Given the description of an element on the screen output the (x, y) to click on. 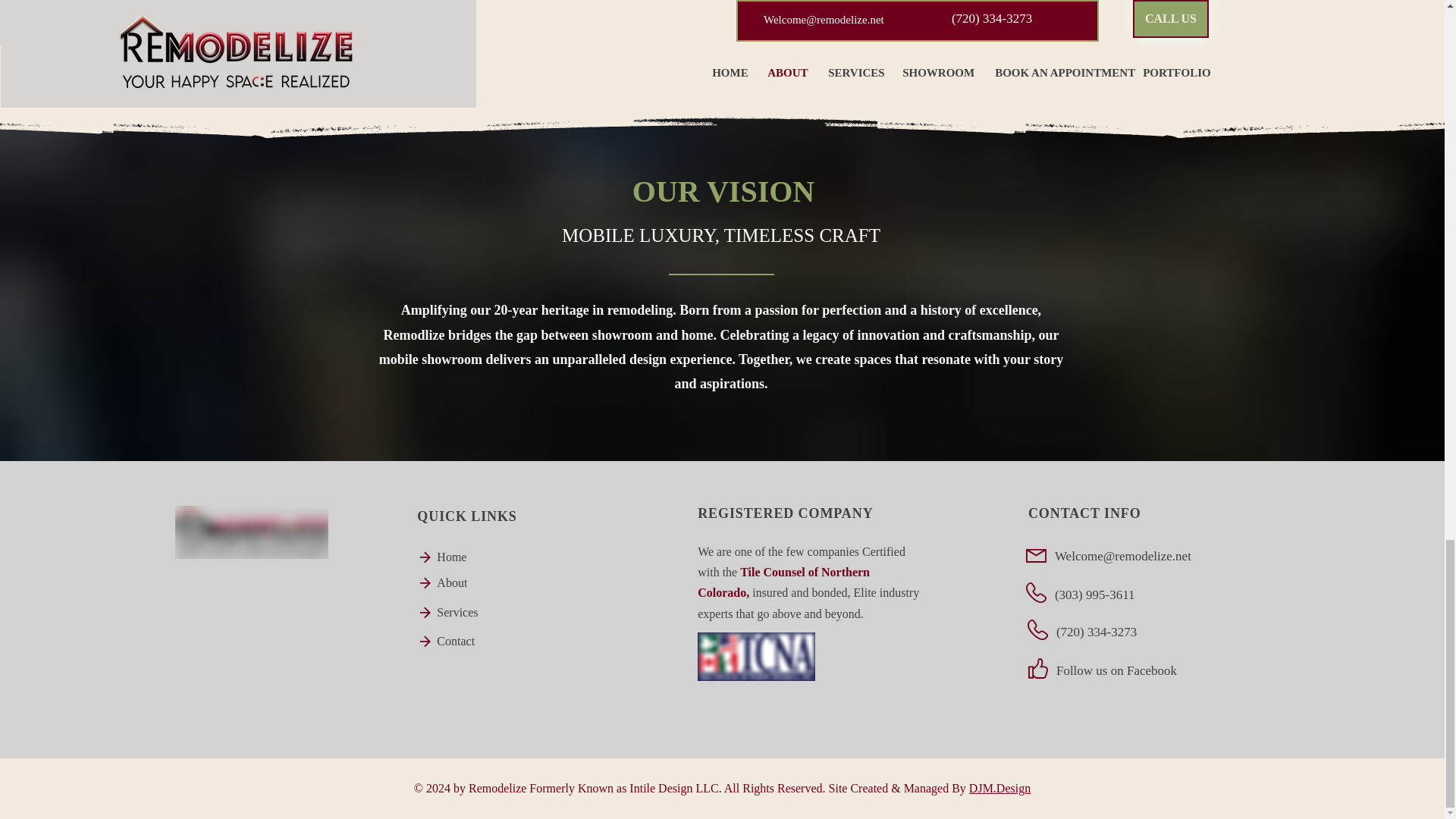
Services (464, 612)
About (461, 583)
Contact (461, 641)
Home (461, 557)
Follow us on Facebook (1116, 670)
DJM.Design (999, 788)
